Given the description of an element on the screen output the (x, y) to click on. 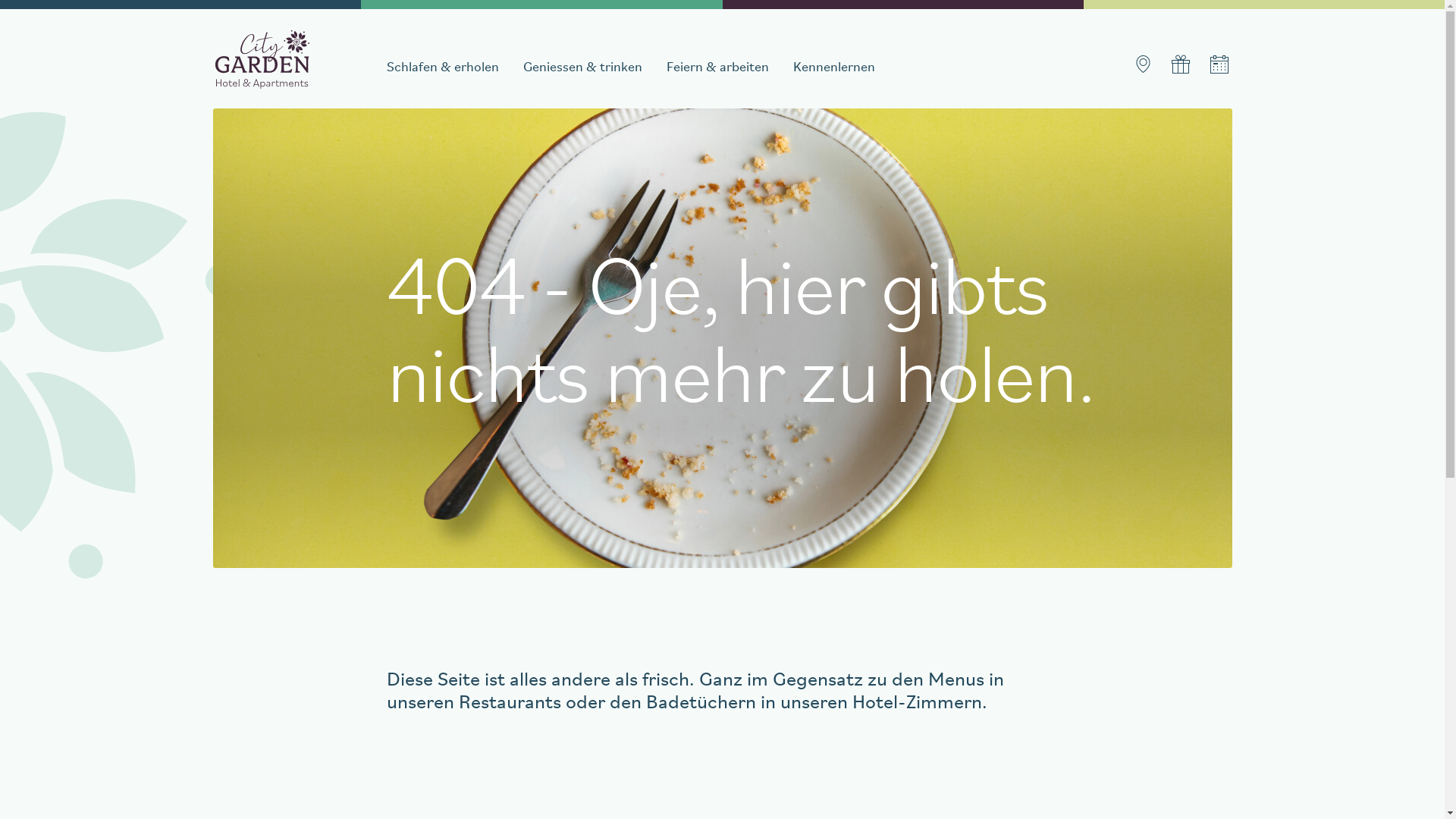
Geniessen & trinken Element type: text (582, 67)
Kontakt Element type: hover (1141, 64)
Feiern & arbeiten Element type: text (716, 67)
Kennenlernen Element type: text (834, 67)
Gutschein Element type: hover (1179, 64)
Schlafen & erholen Element type: text (442, 67)
